Given the description of an element on the screen output the (x, y) to click on. 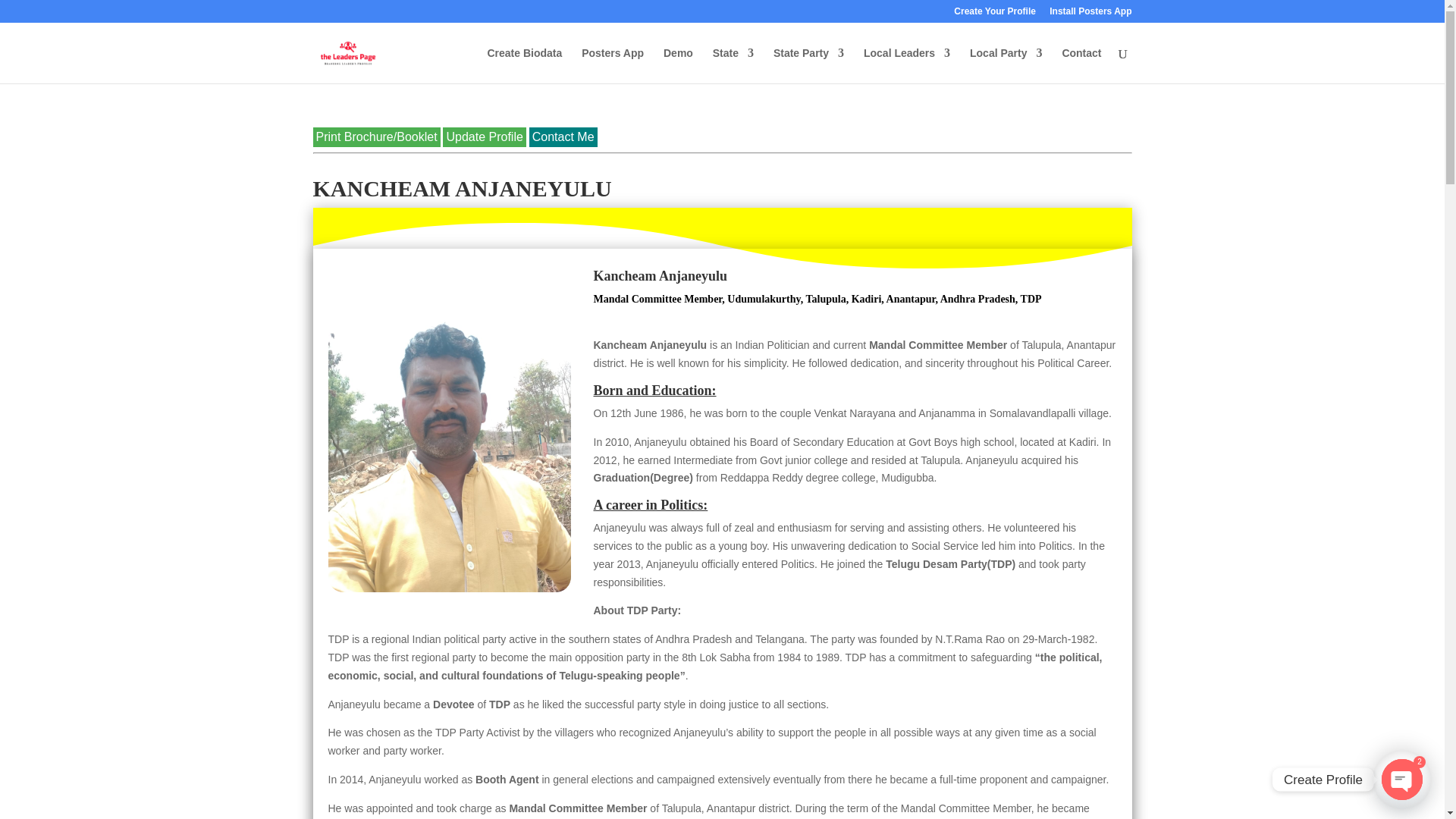
Local Leaders (906, 65)
State Party (808, 65)
Contact (1080, 65)
Create Biodata (524, 65)
Local Party (1005, 65)
Posters App (611, 65)
Install Posters App (1090, 14)
State (733, 65)
Create Your Profile (994, 14)
